Given the description of an element on the screen output the (x, y) to click on. 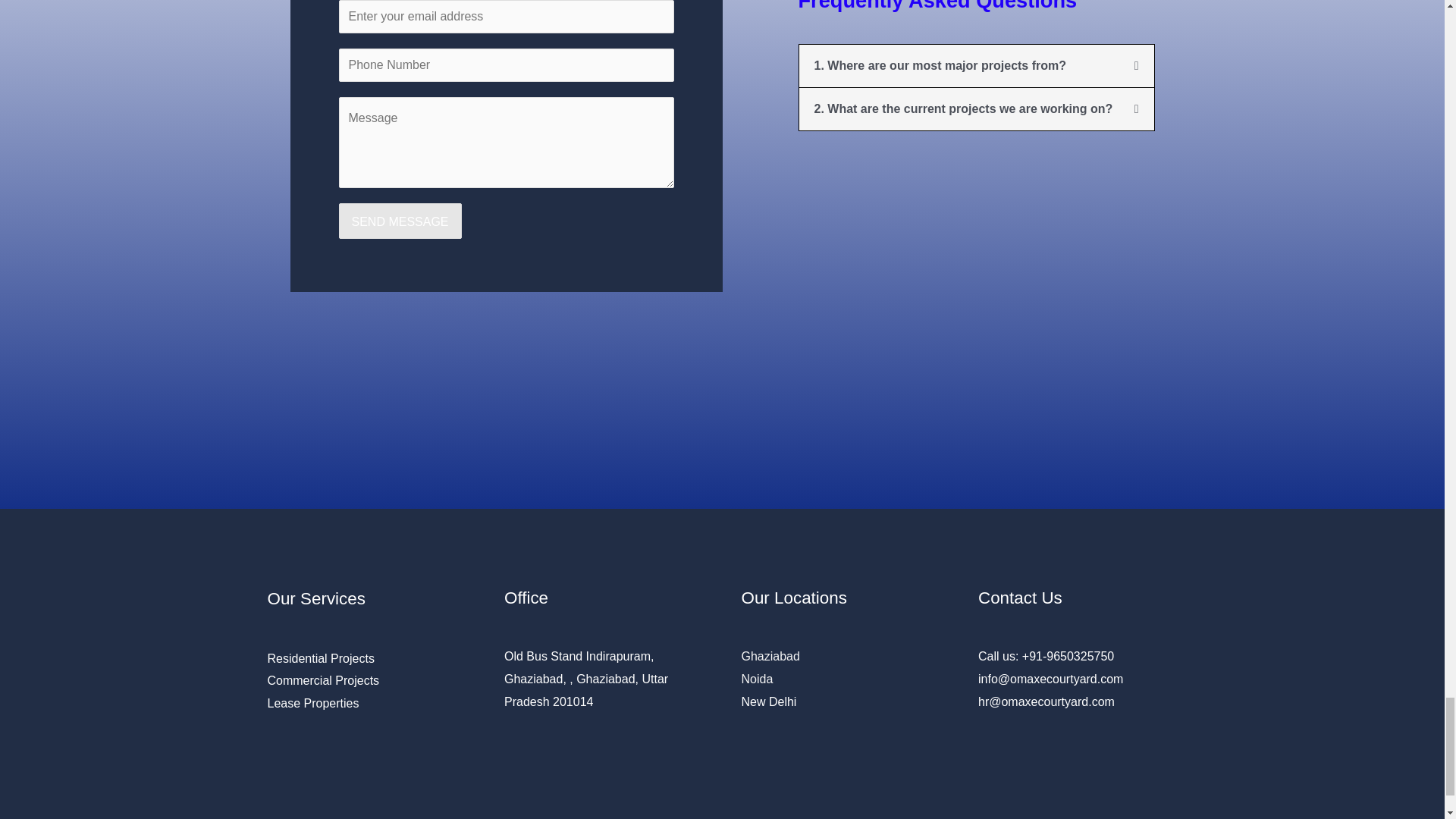
SEND MESSAGE (399, 221)
2. What are the current projects we are working on? (963, 108)
1. Where are our most major projects from? (940, 65)
